Given the description of an element on the screen output the (x, y) to click on. 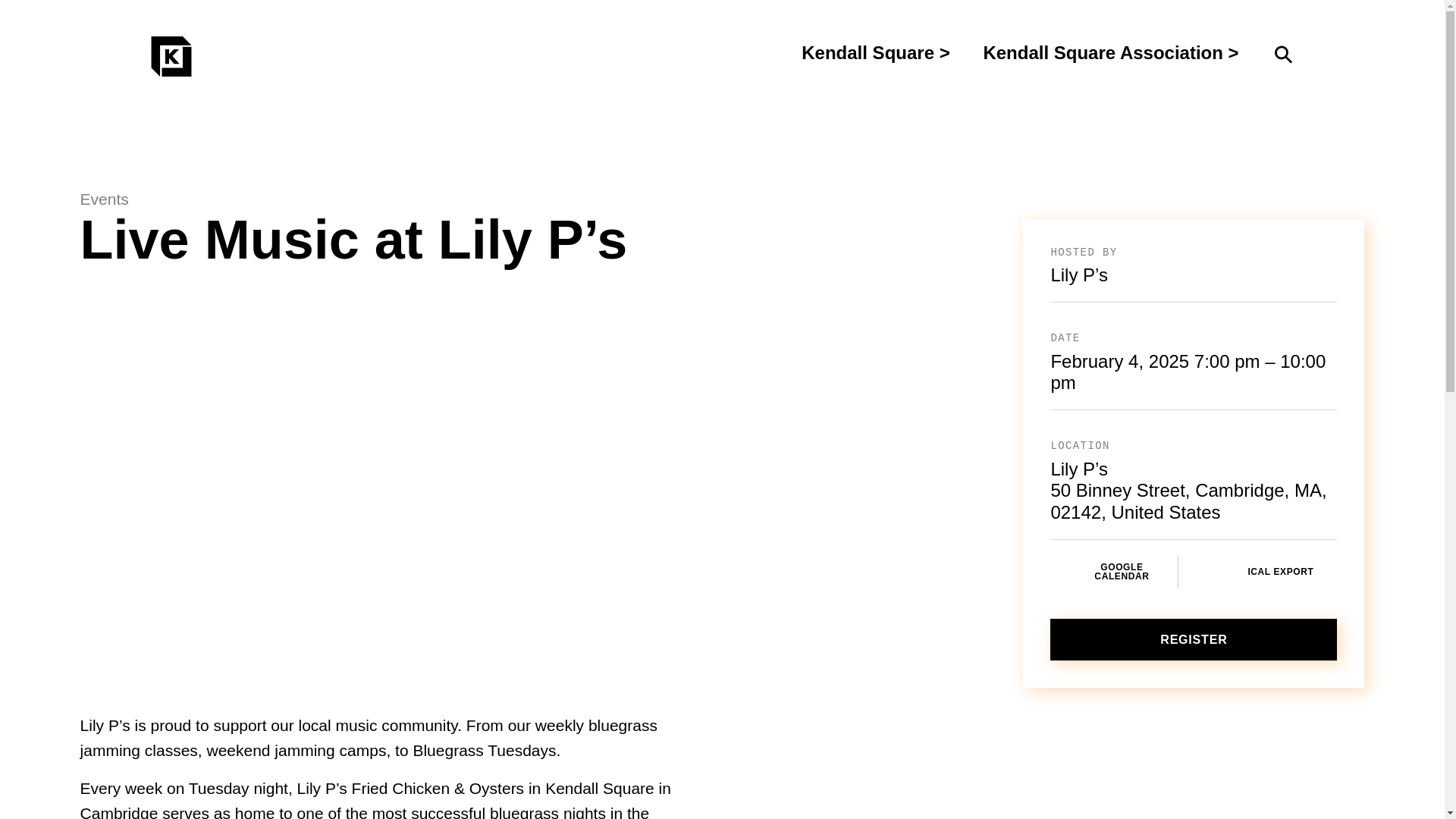
REGISTER (1192, 639)
Download .ics file (1272, 571)
Events (498, 198)
ICAL EXPORT (1272, 571)
Add to Google Calendar (1113, 571)
GOOGLE CALENDAR (1113, 571)
